Given the description of an element on the screen output the (x, y) to click on. 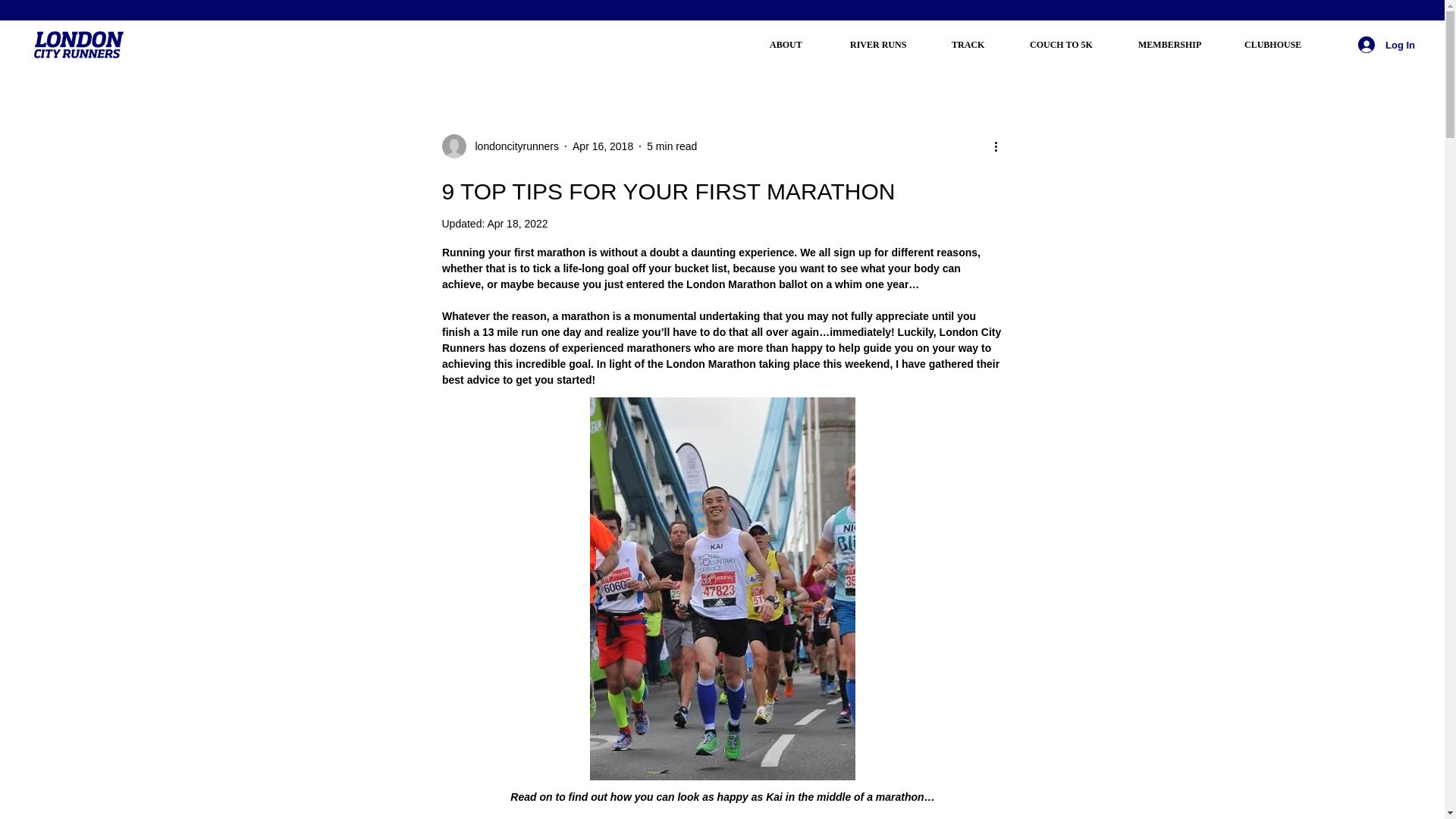
RIVER RUNS (889, 44)
londoncityrunners (500, 146)
TRACK (978, 44)
ABOUT (798, 44)
Apr 16, 2018 (602, 145)
MEMBERSHIP (1179, 44)
londoncityrunners (512, 145)
Log In (1386, 44)
COUCH TO 5K (1071, 44)
Apr 18, 2022 (516, 223)
CLUBHOUSE (1284, 44)
5 min read (671, 145)
